Given the description of an element on the screen output the (x, y) to click on. 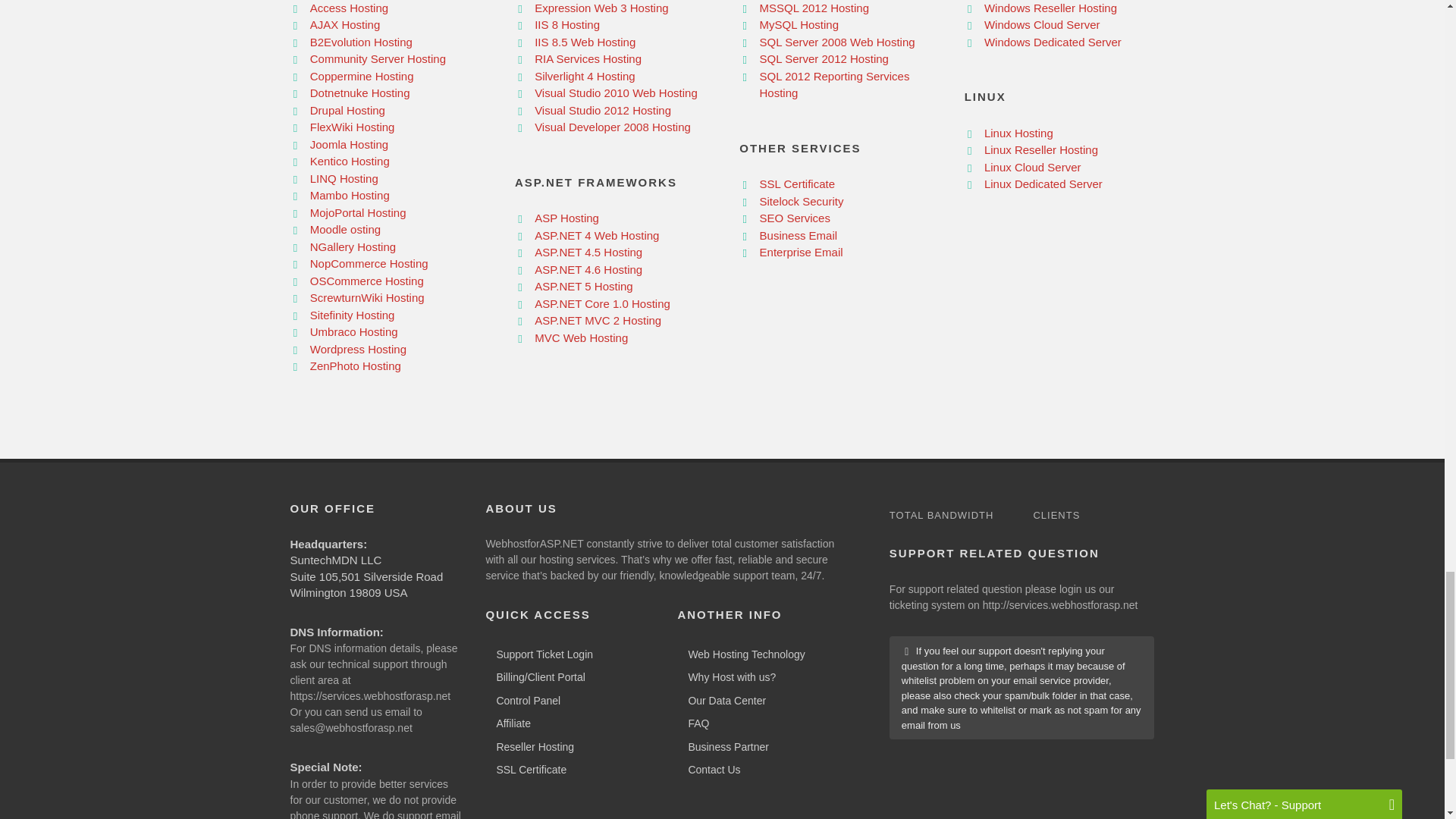
Community Server Hosting (377, 58)
AJAX Hosting (345, 24)
Access Hosting (349, 7)
Drupal Hosting (347, 110)
B2Evolution Hosting (361, 42)
Dotnetnuke Hosting (360, 92)
Coppermine Hosting (361, 75)
